Given the description of an element on the screen output the (x, y) to click on. 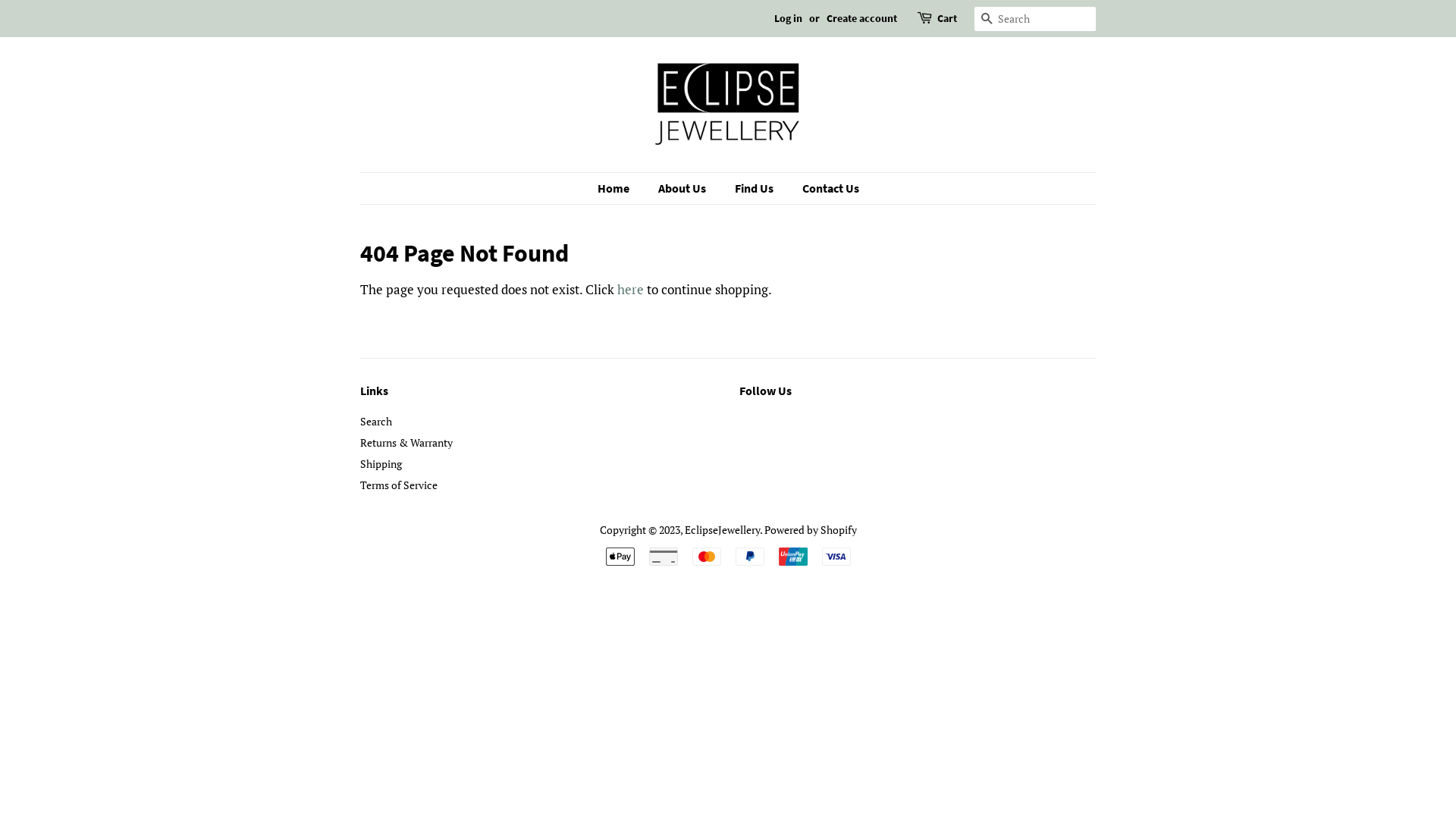
Shipping Element type: text (380, 463)
Find Us Element type: text (755, 187)
Cart Element type: text (947, 18)
EclipseJewellery Element type: text (721, 529)
Search Element type: text (376, 421)
Powered by Shopify Element type: text (810, 529)
Log in Element type: text (788, 18)
Search Element type: text (986, 18)
here Element type: text (630, 289)
Returns & Warranty Element type: text (406, 442)
Terms of Service Element type: text (398, 484)
About Us Element type: text (683, 187)
Contact Us Element type: text (824, 187)
Home Element type: text (620, 187)
Create account Element type: text (861, 18)
